Given the description of an element on the screen output the (x, y) to click on. 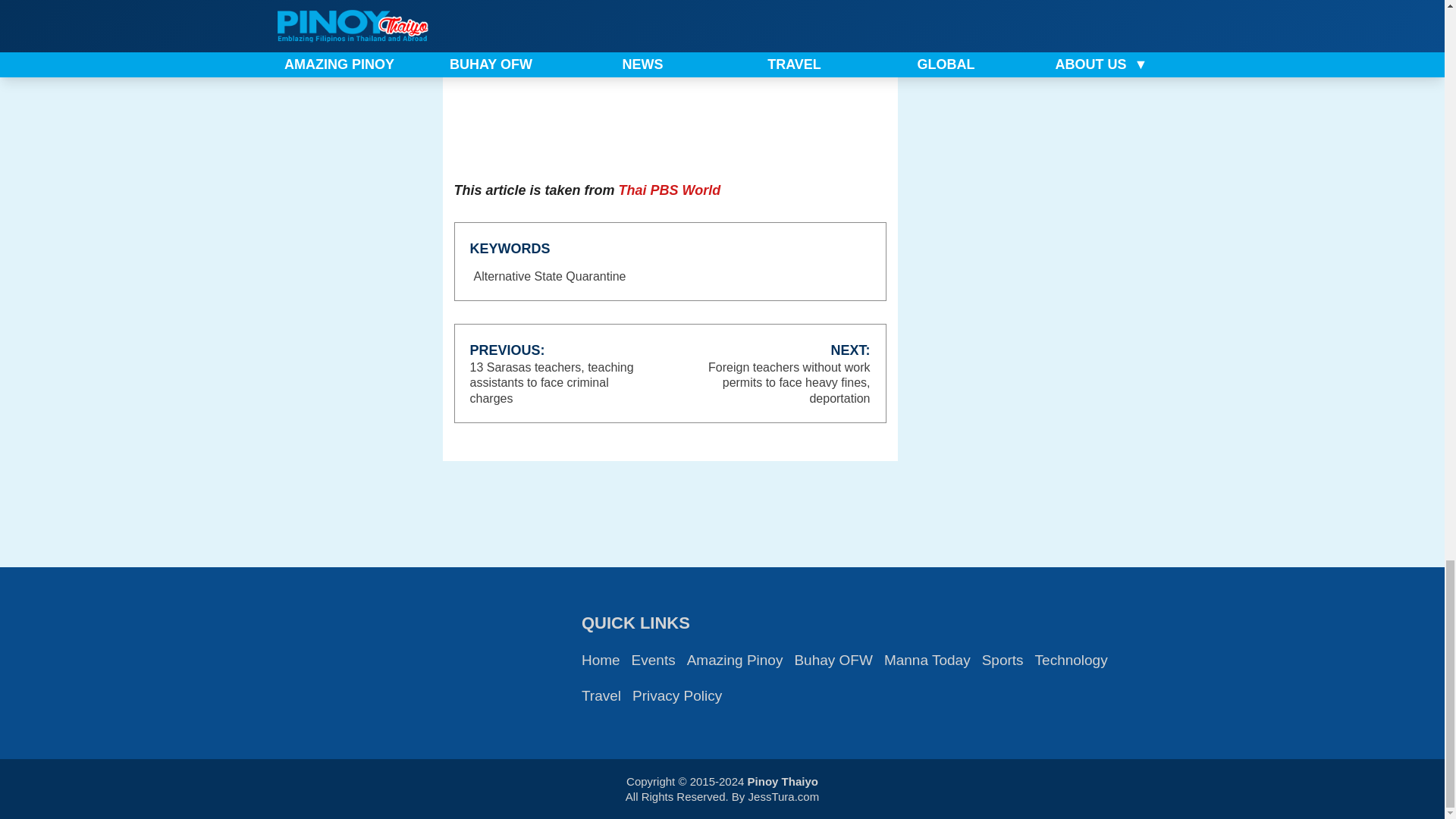
Alternative State Quarantine (550, 277)
Thai PBS World (669, 190)
